Given the description of an element on the screen output the (x, y) to click on. 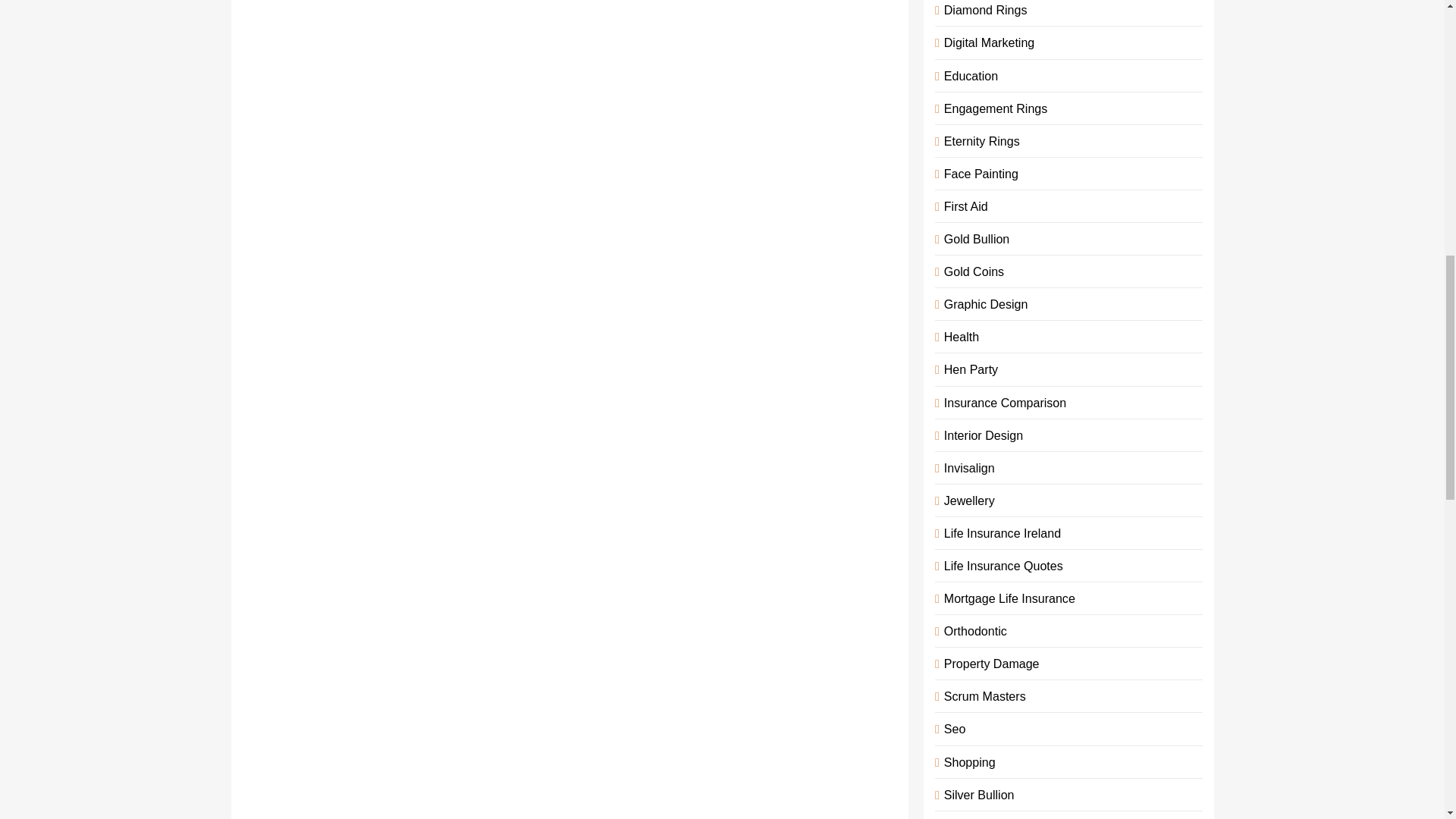
Eternity Rings (978, 141)
Gold Coins (970, 271)
Life Insurance Quotes (1000, 565)
First Aid (962, 205)
Face Painting (978, 173)
Digital Marketing (986, 42)
Health (958, 336)
Interior Design (980, 435)
Graphic Design (982, 304)
Engagement Rings (992, 108)
